Given the description of an element on the screen output the (x, y) to click on. 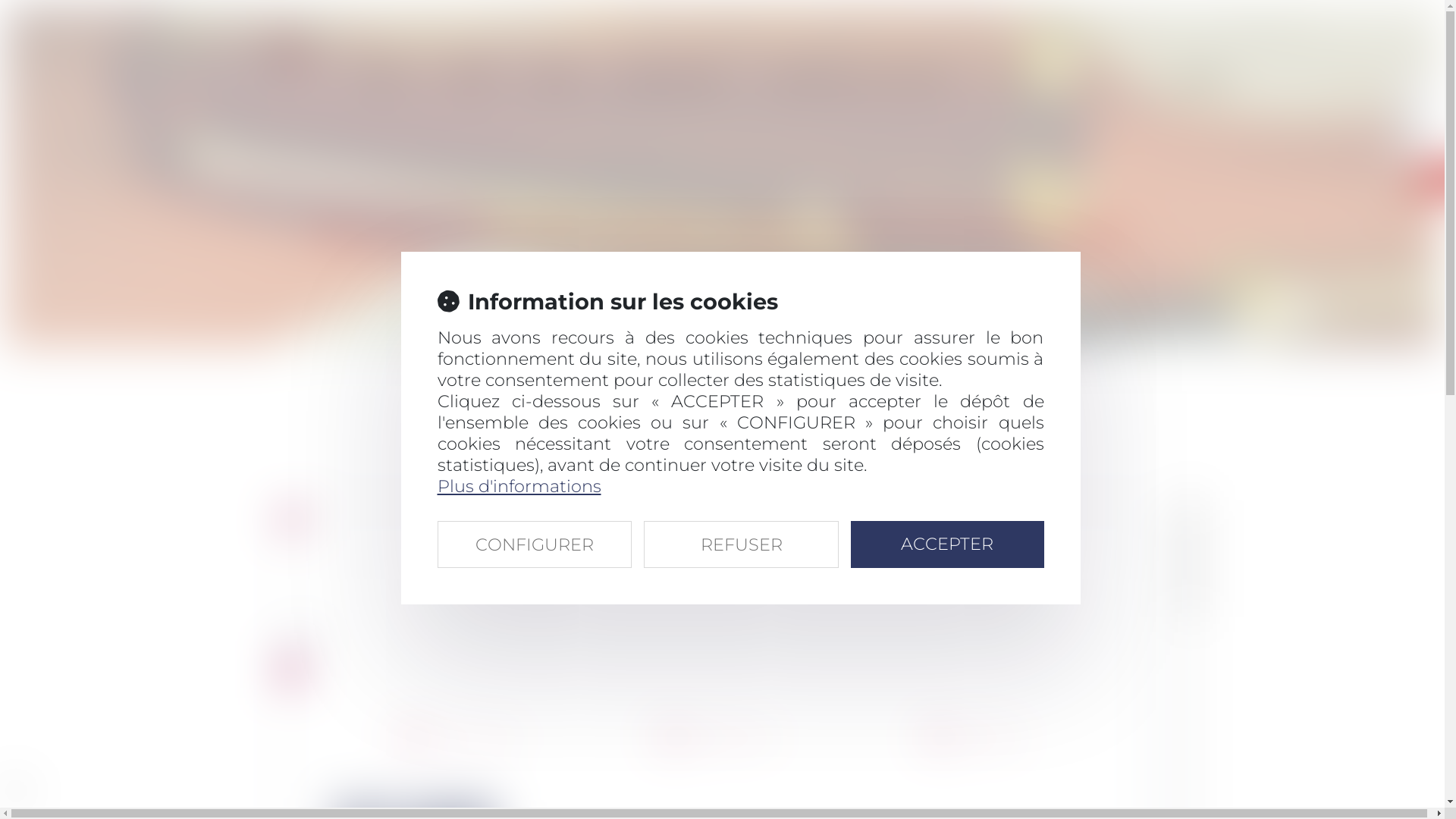
HISTOIRE Element type: text (469, 77)
Cabinet d'avocats Belwest Element type: hover (292, 36)
Ouvrir le menu Element type: text (336, 43)
ACCEPTER Element type: text (947, 543)
ACCUEIL Element type: text (385, 77)
REFUSER Element type: text (740, 543)
Menu Element type: text (363, 39)
Plus d'informations Element type: text (518, 484)
NOS DOMAINES D'INTERVENTION Element type: text (861, 77)
RDV EN LIGNE Element type: text (1103, 77)
ACTUS Element type: text (1010, 77)
CONFIGURER Element type: text (533, 543)
CONTACT Element type: text (1204, 77)
NOS ENGAGEMENTS Element type: text (673, 77)
